Given the description of an element on the screen output the (x, y) to click on. 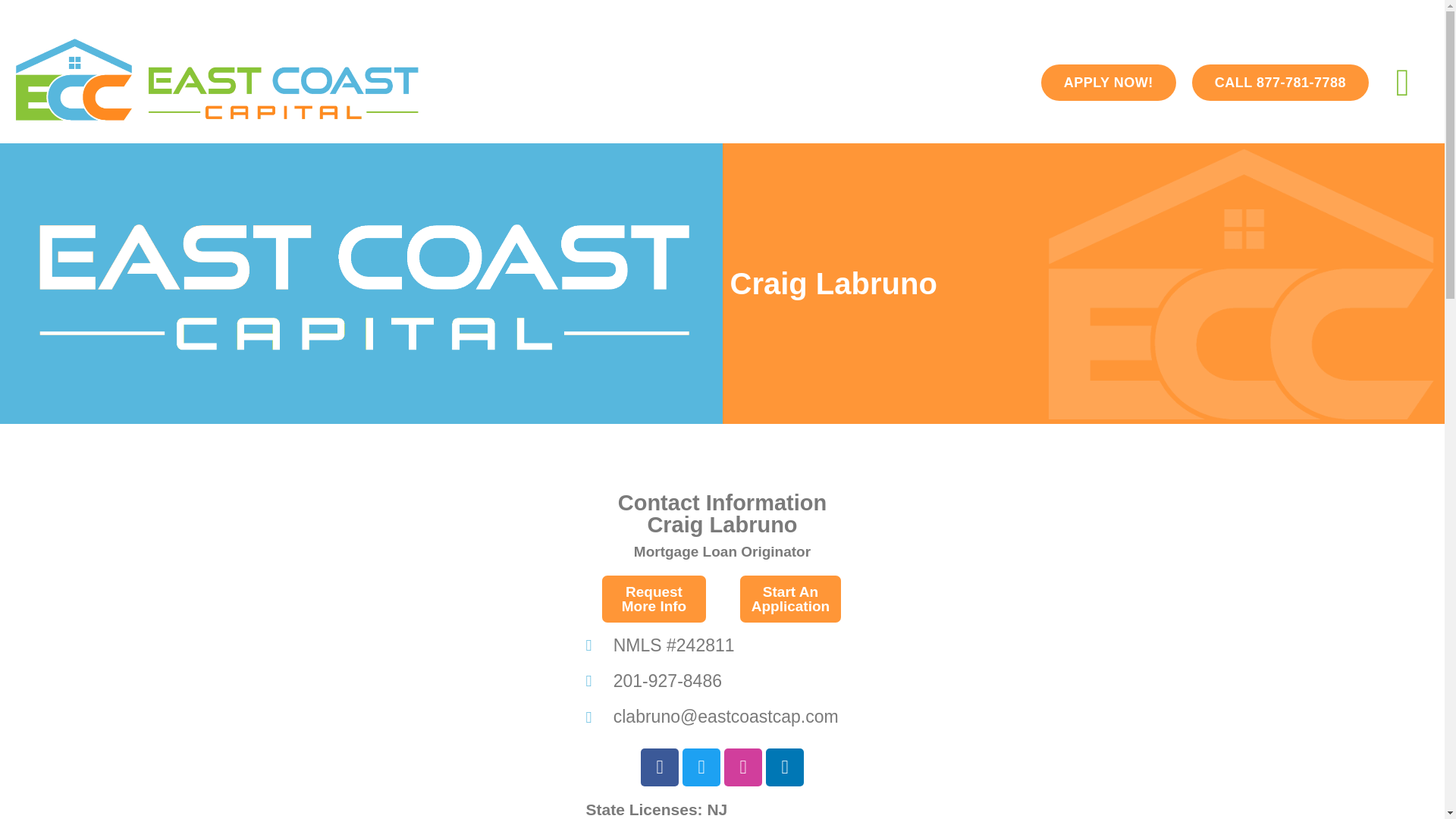
APPLY NOW! (1108, 82)
CALL 877-781-7788 (1280, 82)
